Given the description of an element on the screen output the (x, y) to click on. 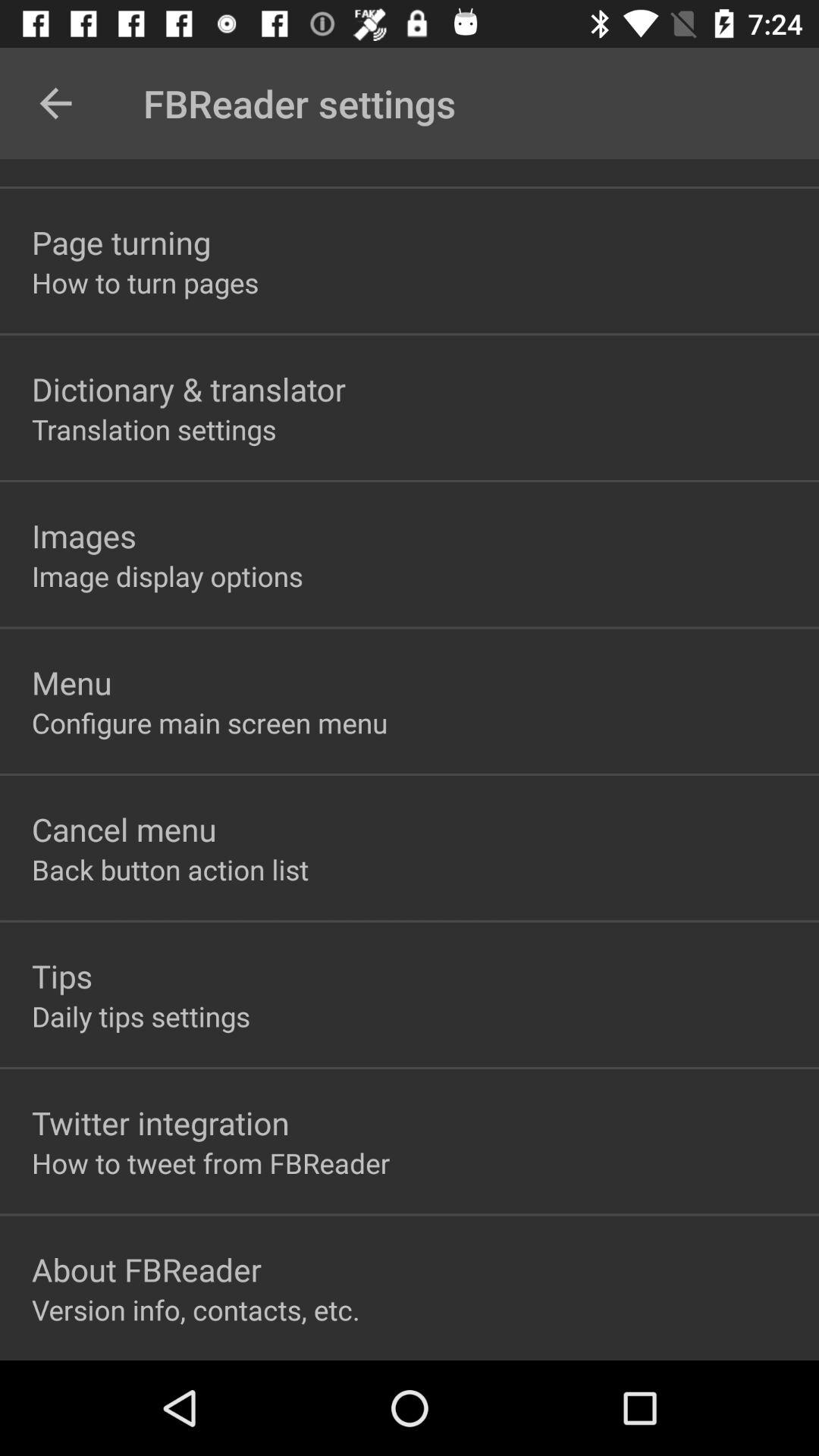
choose the item above the version info contacts item (146, 1269)
